Given the description of an element on the screen output the (x, y) to click on. 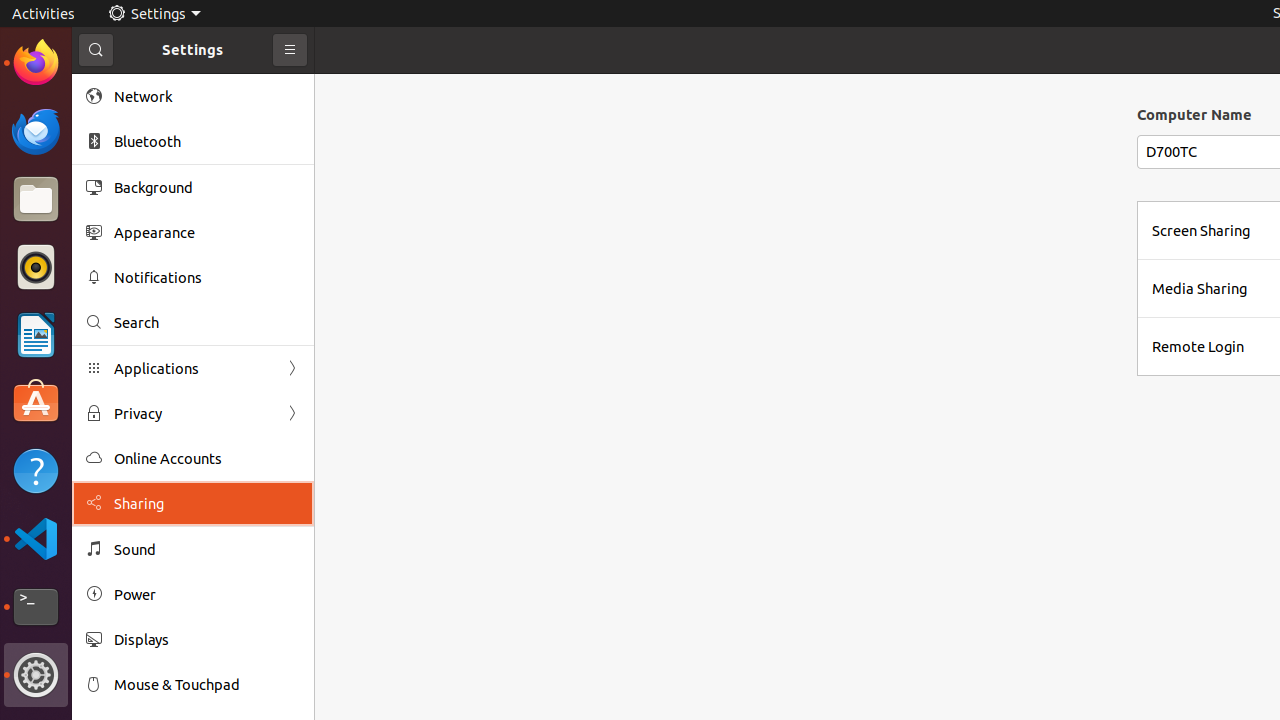
Settings Element type: push-button (36, 675)
Appearance Element type: label (207, 232)
Trash Element type: label (133, 191)
Bluetooth Element type: label (207, 141)
